Given the description of an element on the screen output the (x, y) to click on. 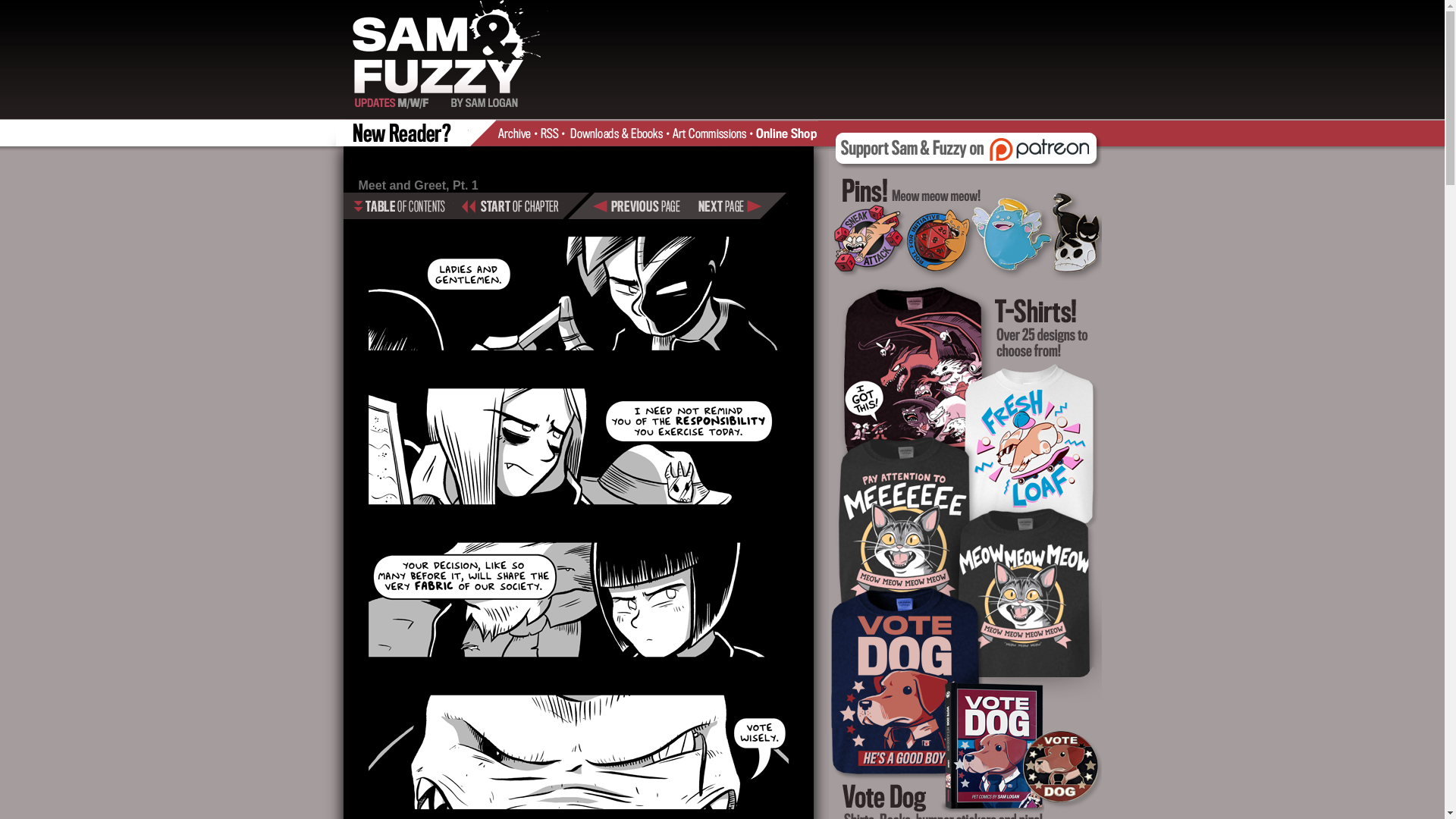
RSS (554, 132)
Next page (738, 205)
New reader? (404, 132)
Online Shop (786, 132)
Table of contents (397, 205)
Previous page (641, 205)
Archive (518, 132)
Start of chapter (507, 205)
Art Commisions (711, 132)
